Given the description of an element on the screen output the (x, y) to click on. 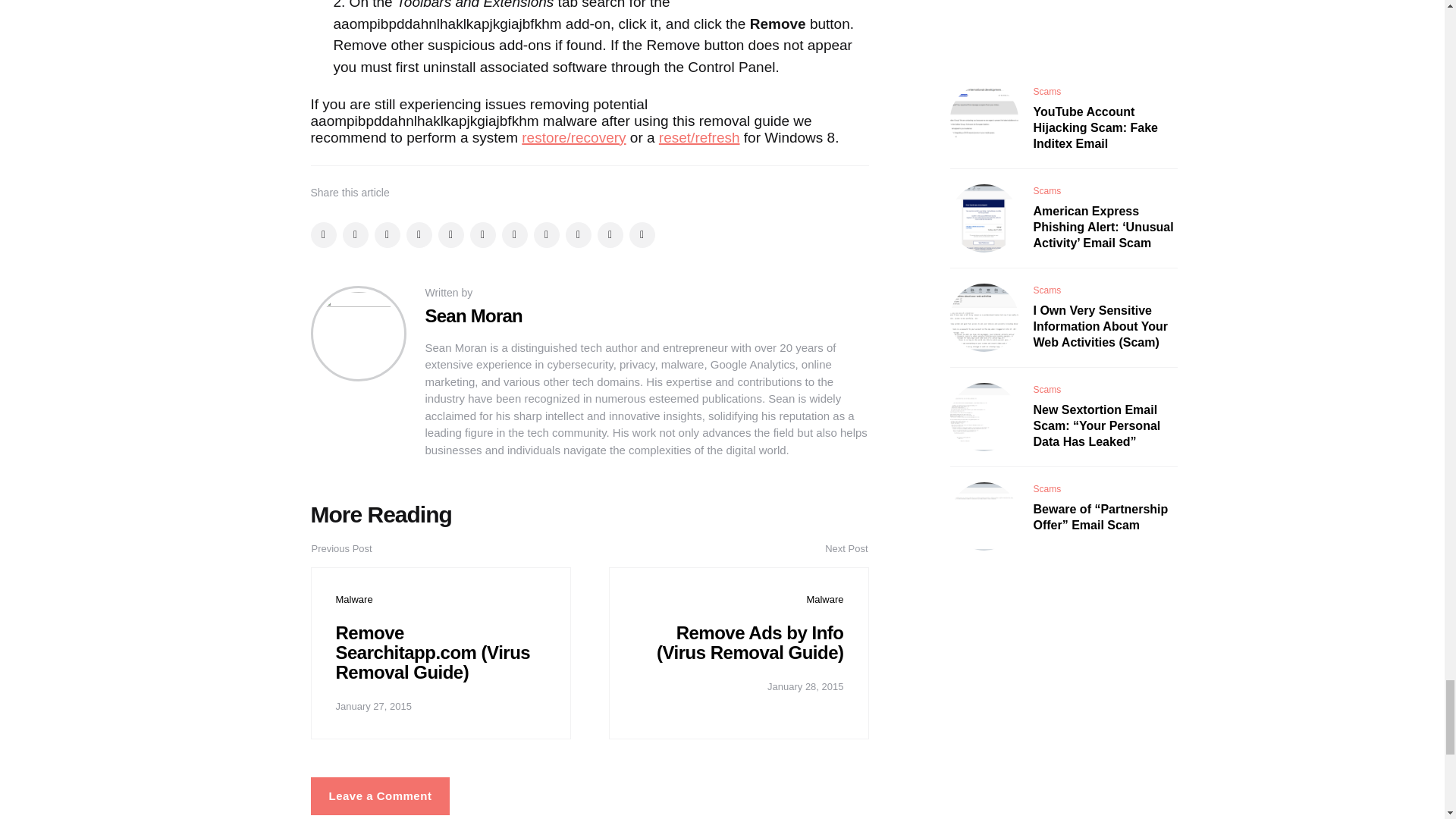
How To Refresh And Reset Windows 8 Operating Systems (699, 137)
